Given the description of an element on the screen output the (x, y) to click on. 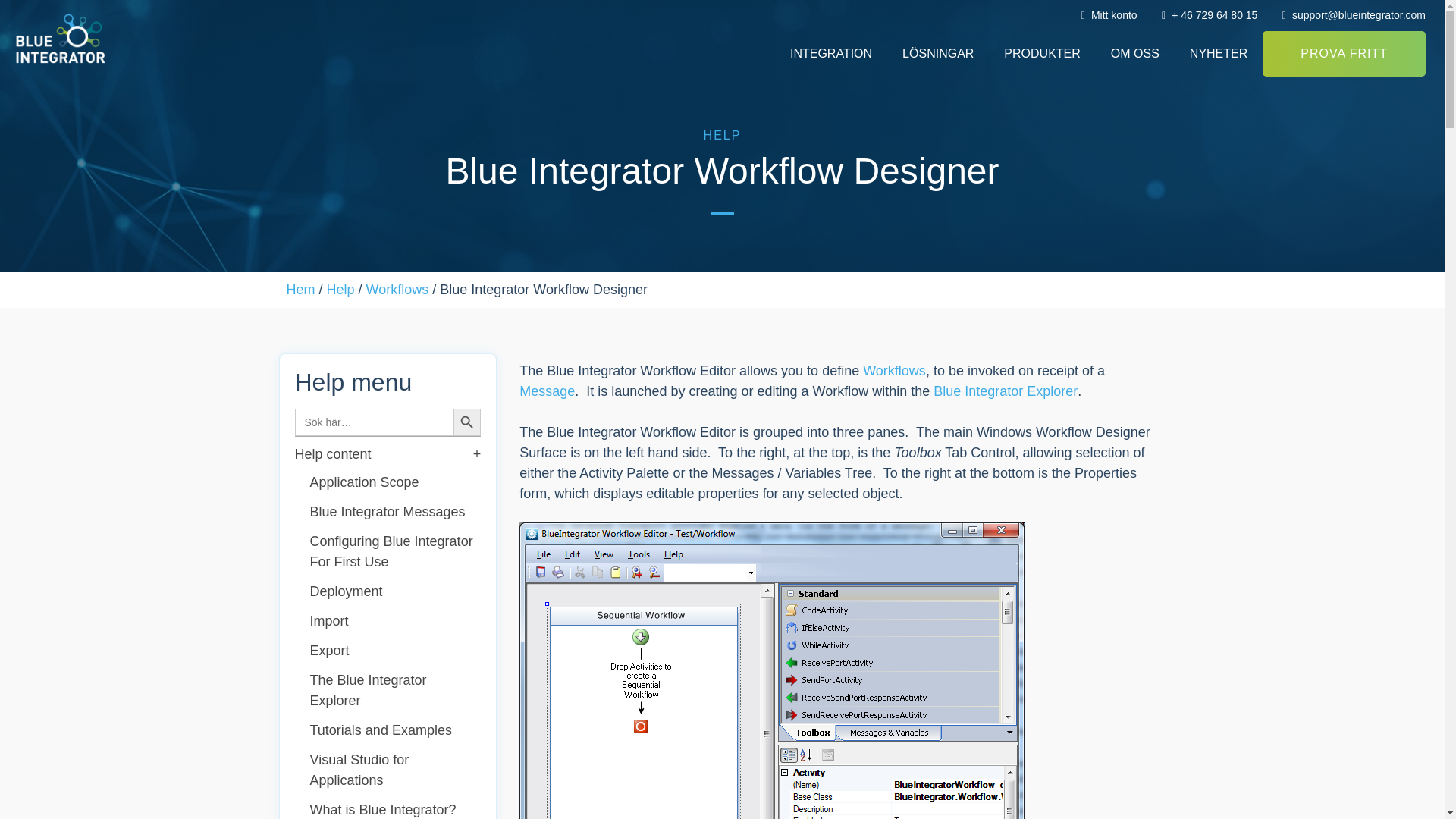
OM OSS (1135, 53)
NYHETER (1218, 53)
PROVA FRITT (1344, 53)
Mitt konto (1104, 15)
INTEGRATION (830, 53)
PRODUKTER (1041, 53)
